Given the description of an element on the screen output the (x, y) to click on. 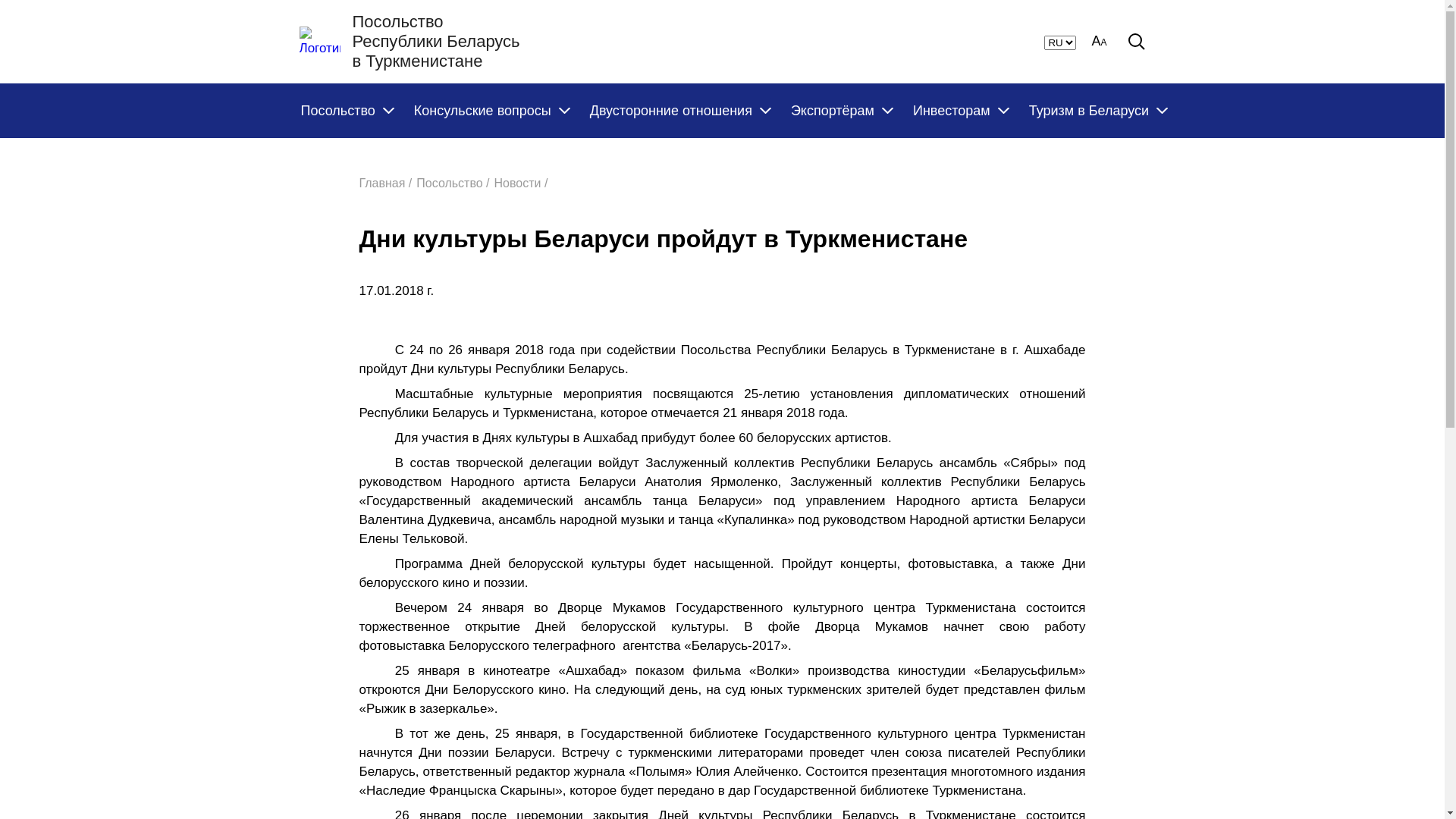
AA Element type: text (1098, 41)
